Given the description of an element on the screen output the (x, y) to click on. 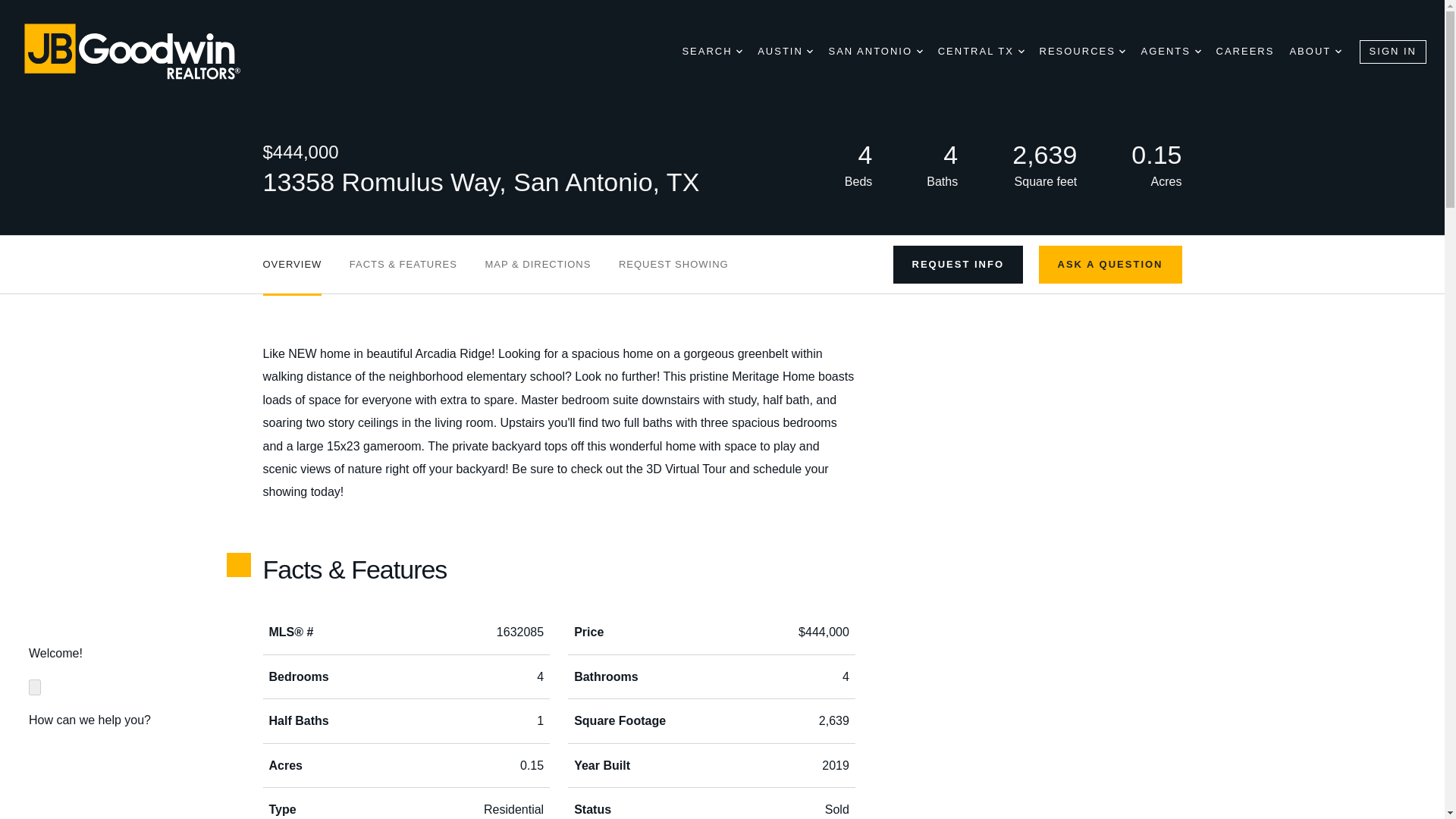
DROPDOWN ARROW (1198, 51)
RESOURCES DROPDOWN ARROW (1082, 51)
DROPDOWN ARROW (809, 51)
DROPDOWN ARROW (1122, 51)
DROPDOWN ARROW (1021, 51)
DROPDOWN ARROW (739, 51)
SEARCH DROPDOWN ARROW (711, 51)
CENTRAL TX DROPDOWN ARROW (981, 51)
AUSTIN DROPDOWN ARROW (784, 51)
SAN ANTONIO DROPDOWN ARROW (874, 51)
